Given the description of an element on the screen output the (x, y) to click on. 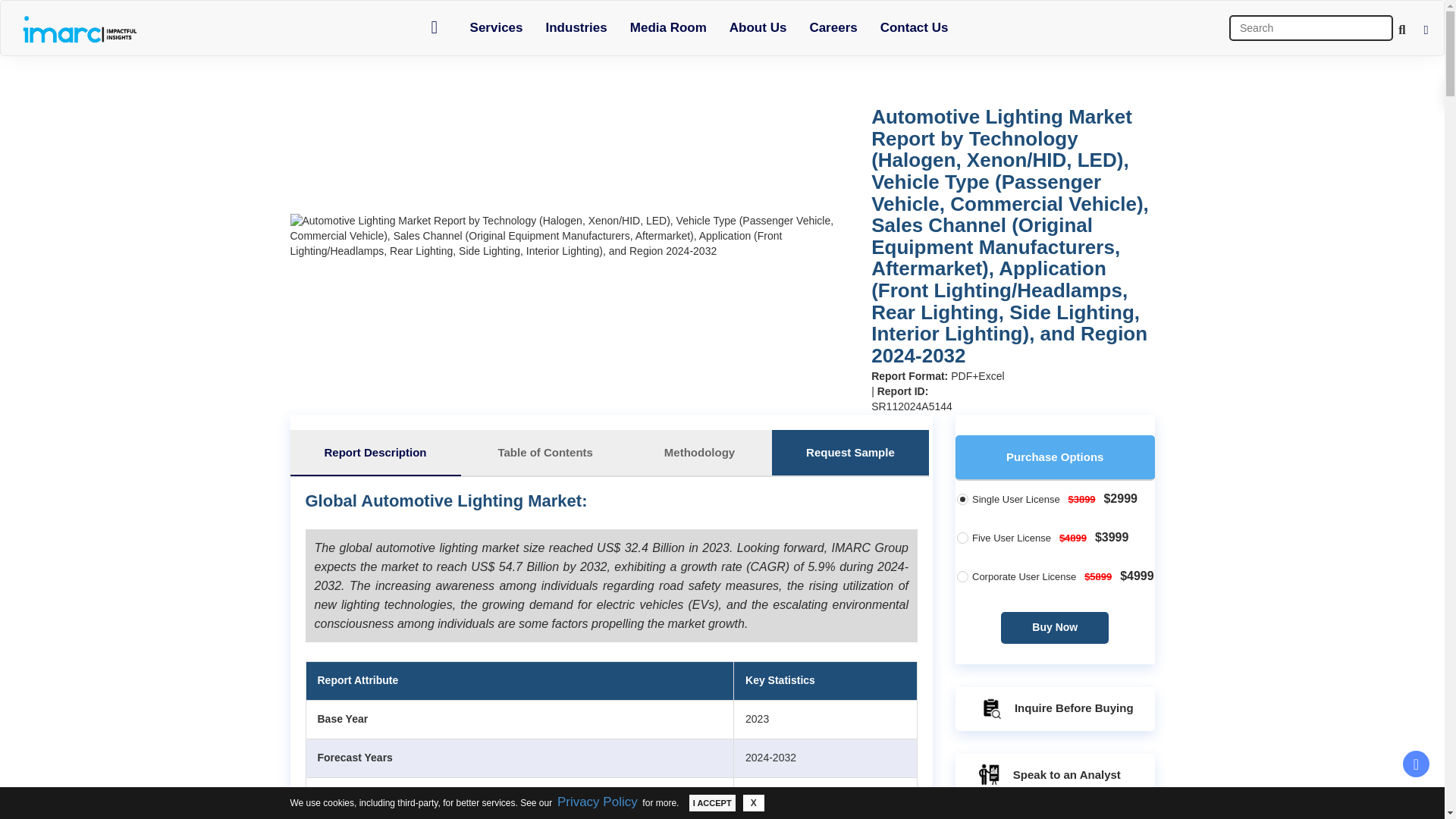
Industries (576, 27)
Contact Us (914, 27)
About Us (757, 27)
Media Room (667, 27)
Careers (832, 27)
Services (496, 27)
